Given the description of an element on the screen output the (x, y) to click on. 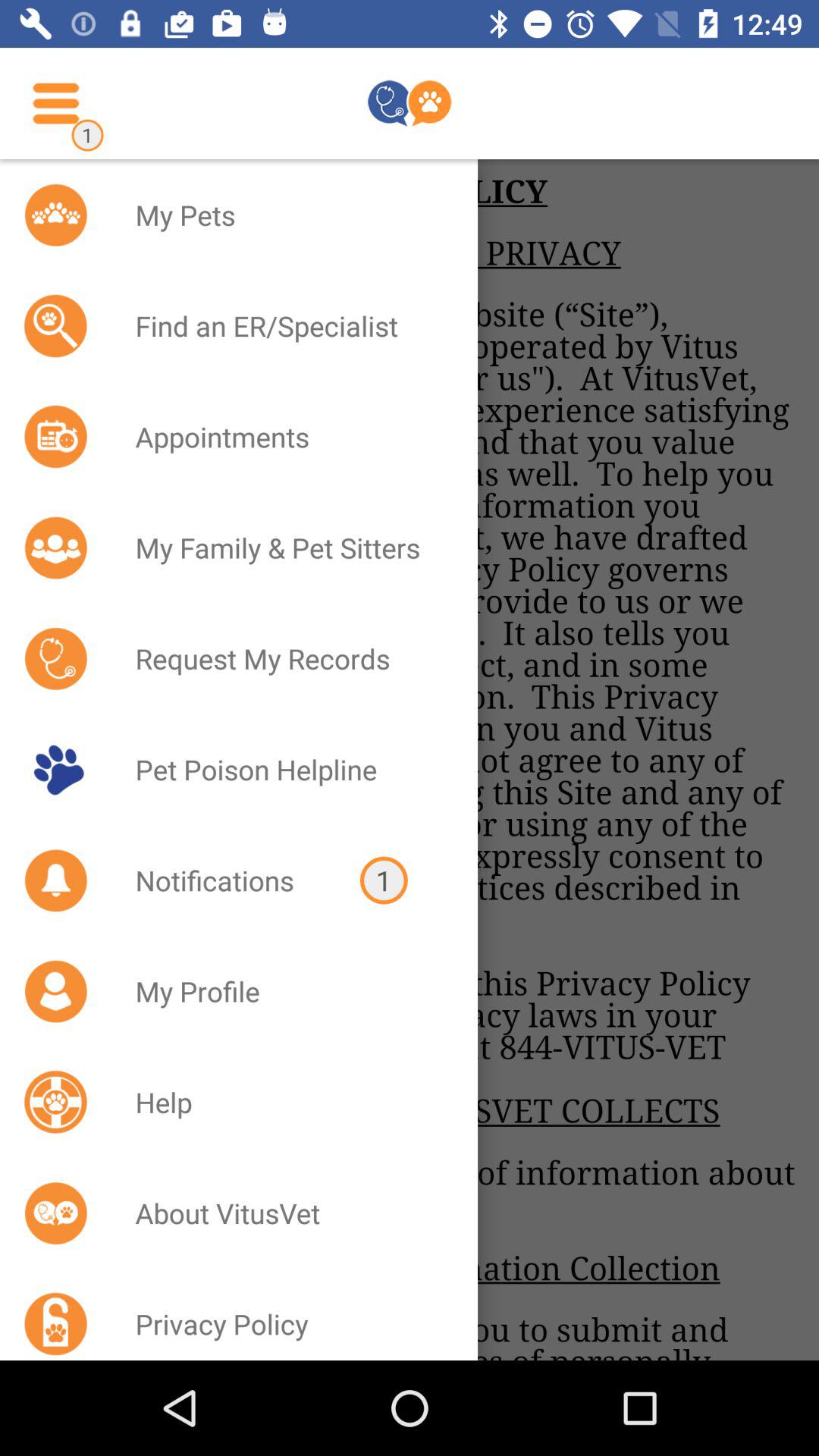
flip until the 1 icon (383, 880)
